Given the description of an element on the screen output the (x, y) to click on. 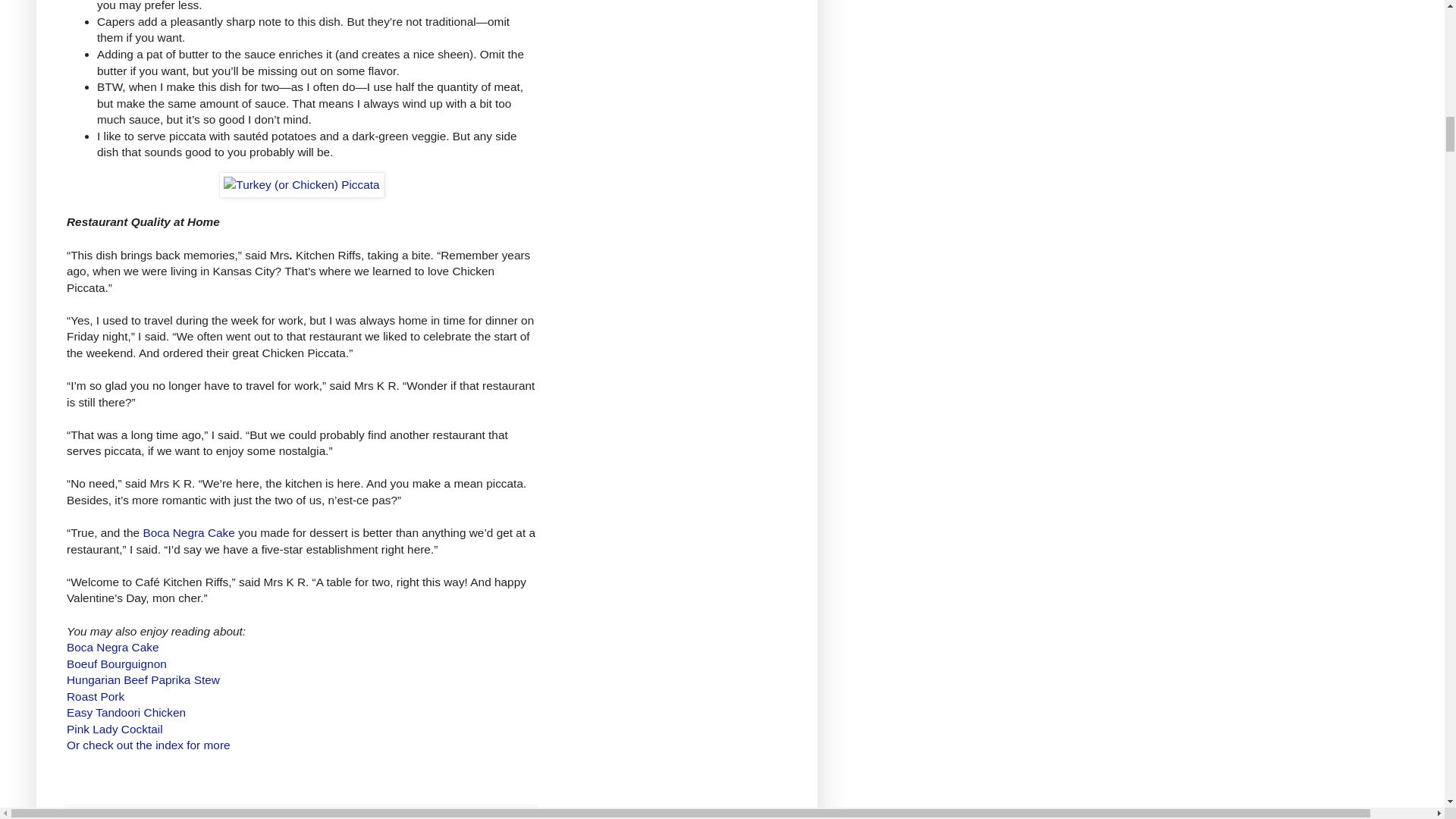
Boca Negra Cake (112, 646)
Email Post (229, 816)
Edit Post (243, 816)
Hungarian Beef Paprika Stew (142, 679)
Or check out the index for more (148, 744)
Boca Negra Cake (188, 532)
Pink Lady Cocktail (114, 728)
Boeuf Bourguignon (116, 663)
Easy Tandoori Chicken (126, 712)
permanent link (201, 816)
Roast Pork (94, 696)
